Given the description of an element on the screen output the (x, y) to click on. 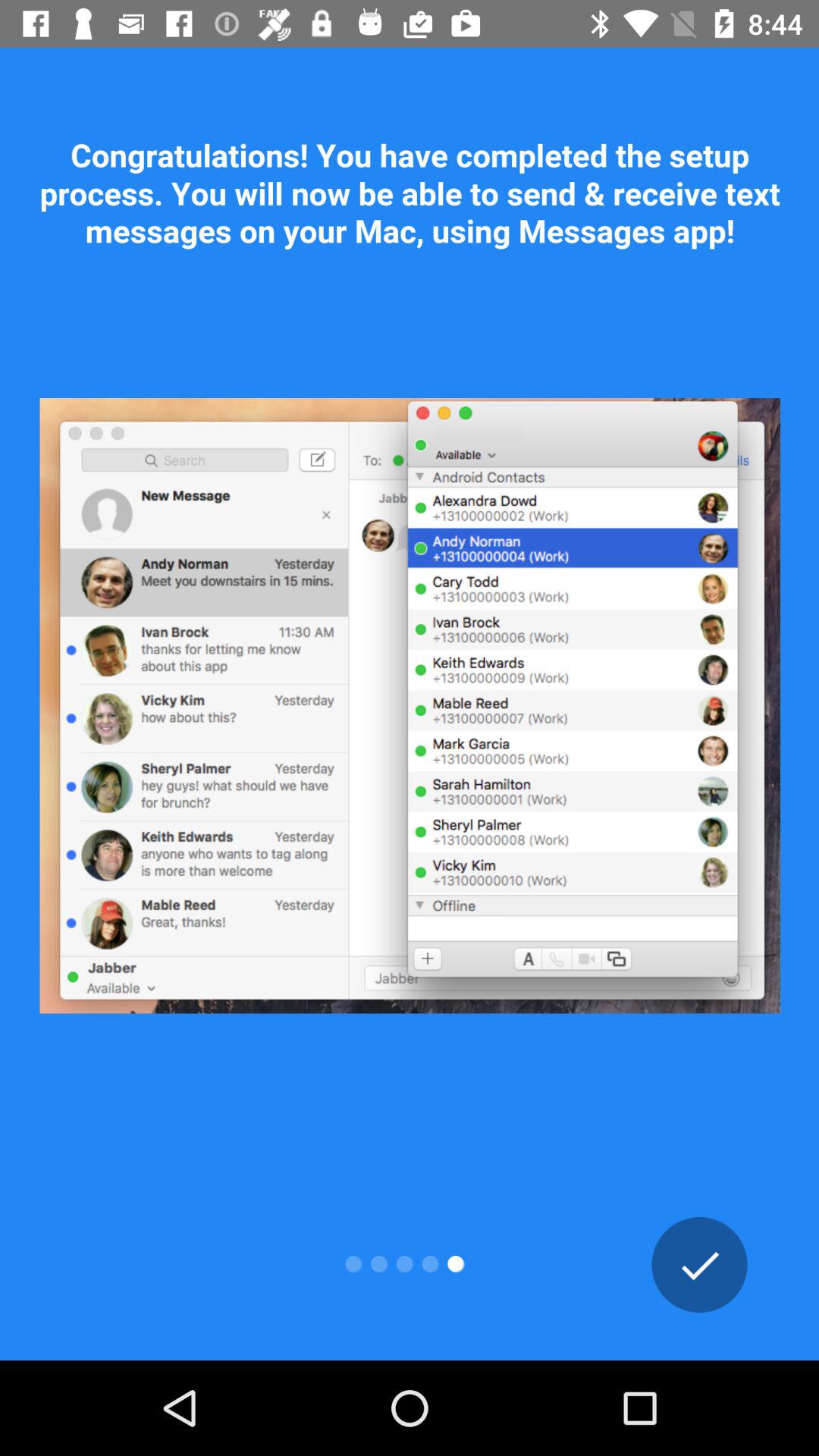
ok button (699, 1264)
